Given the description of an element on the screen output the (x, y) to click on. 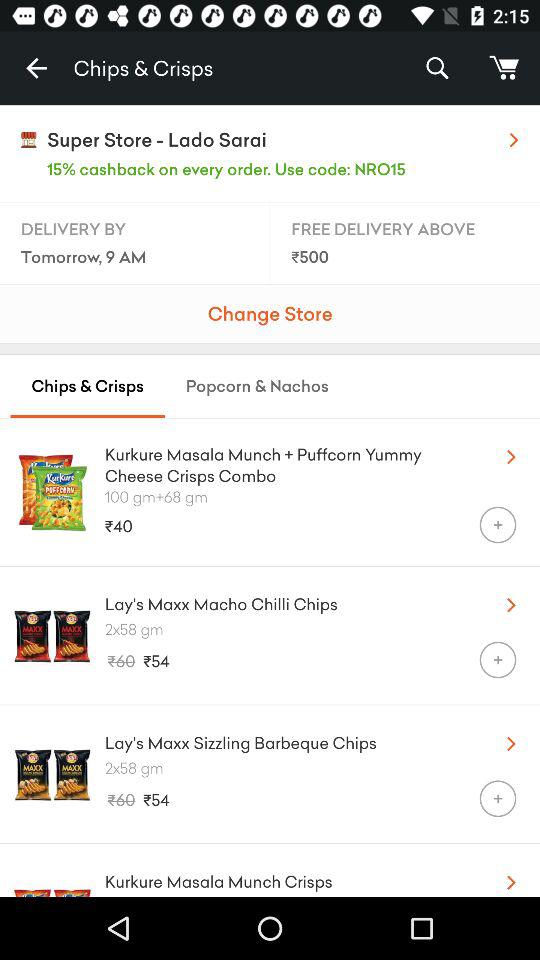
swipe to + (497, 798)
